Given the description of an element on the screen output the (x, y) to click on. 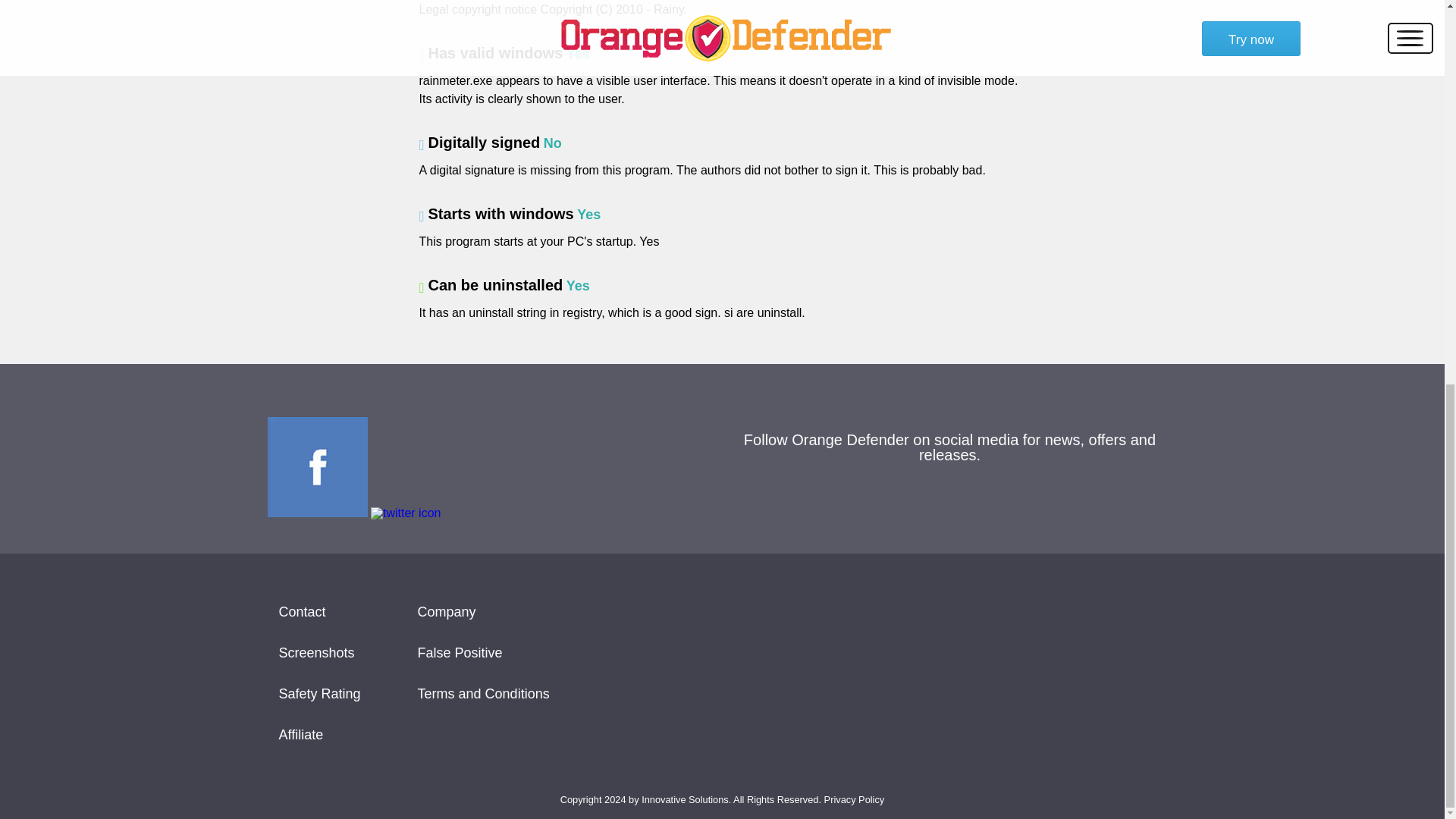
Affiliate (320, 734)
Safety Rating (320, 693)
Screenshots (320, 652)
Contact (320, 611)
Innovative Solutions (685, 799)
Terms and Conditions (483, 693)
Company (483, 611)
False Positive (483, 652)
Privacy Policy (854, 799)
